Given the description of an element on the screen output the (x, y) to click on. 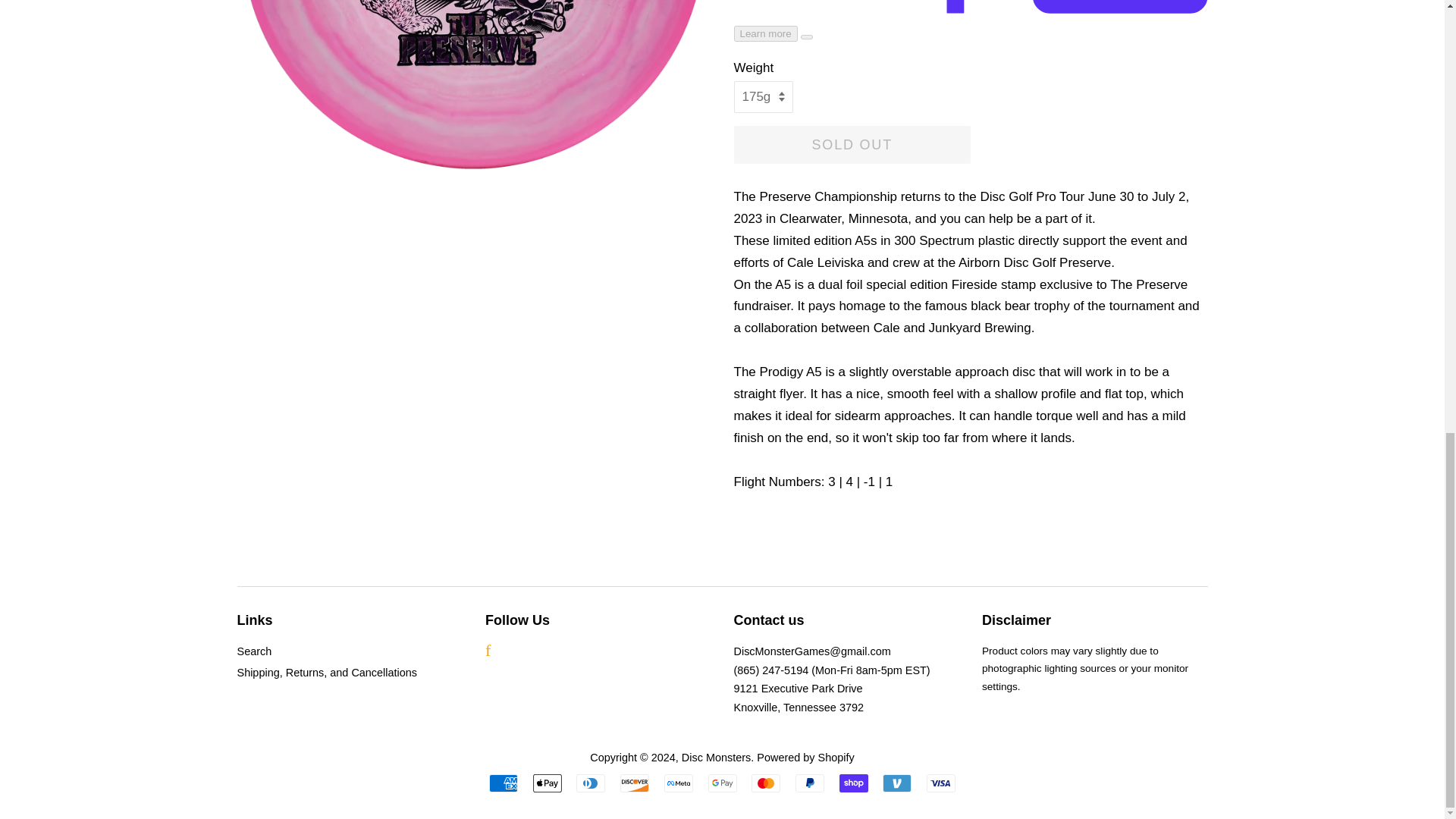
Diners Club (590, 782)
Shipping, Returns, and Cancellations (325, 672)
American Express (503, 782)
Apple Pay (547, 782)
Venmo (896, 782)
Powered by Shopify (805, 757)
Meta Pay (678, 782)
Visa (940, 782)
Discover (634, 782)
PayPal (809, 782)
Mastercard (765, 782)
SOLD OUT (852, 144)
Search (252, 651)
Disc Monsters (716, 757)
Google Pay (721, 782)
